Given the description of an element on the screen output the (x, y) to click on. 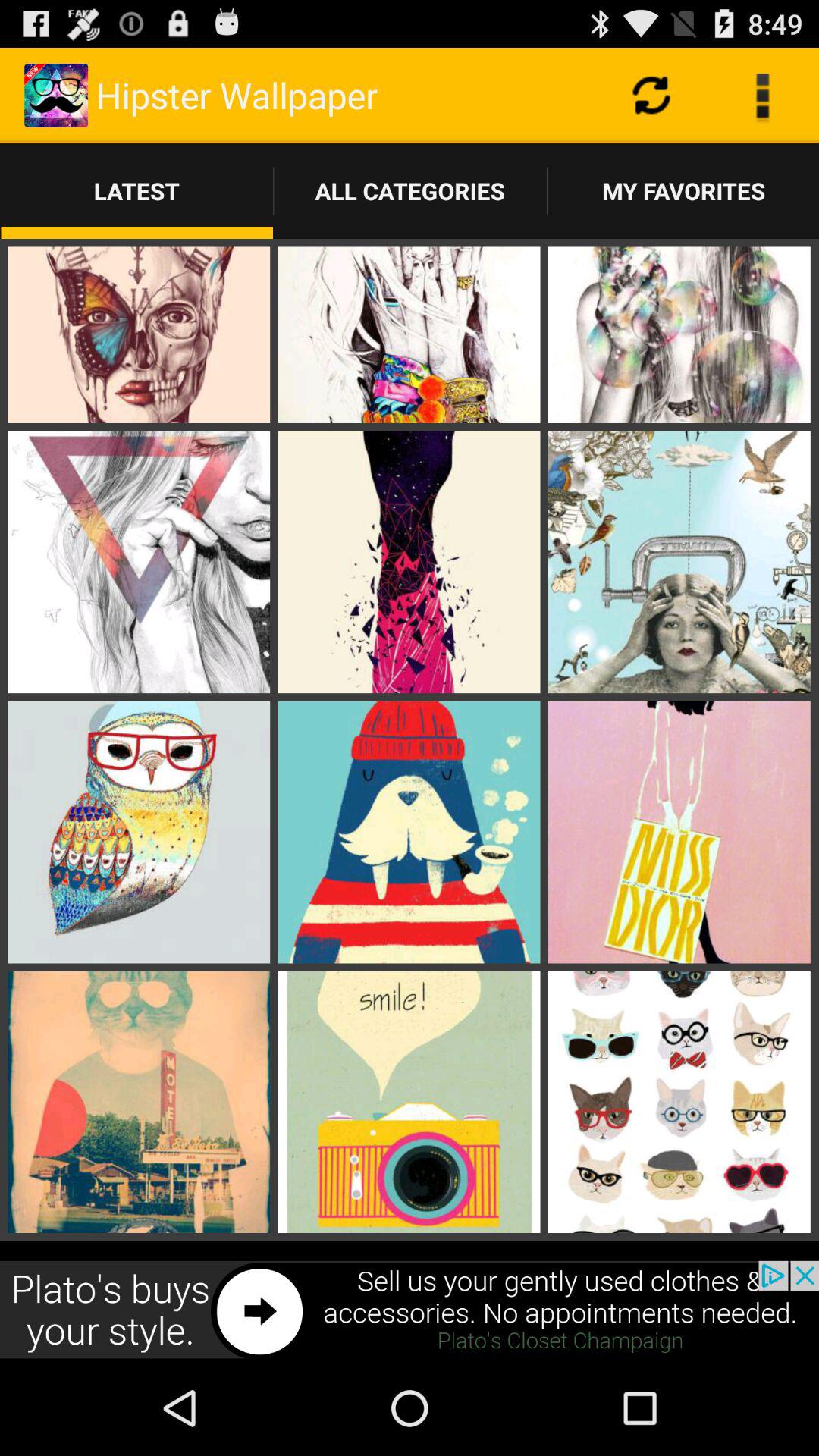
remove add (409, 1310)
